Given the description of an element on the screen output the (x, y) to click on. 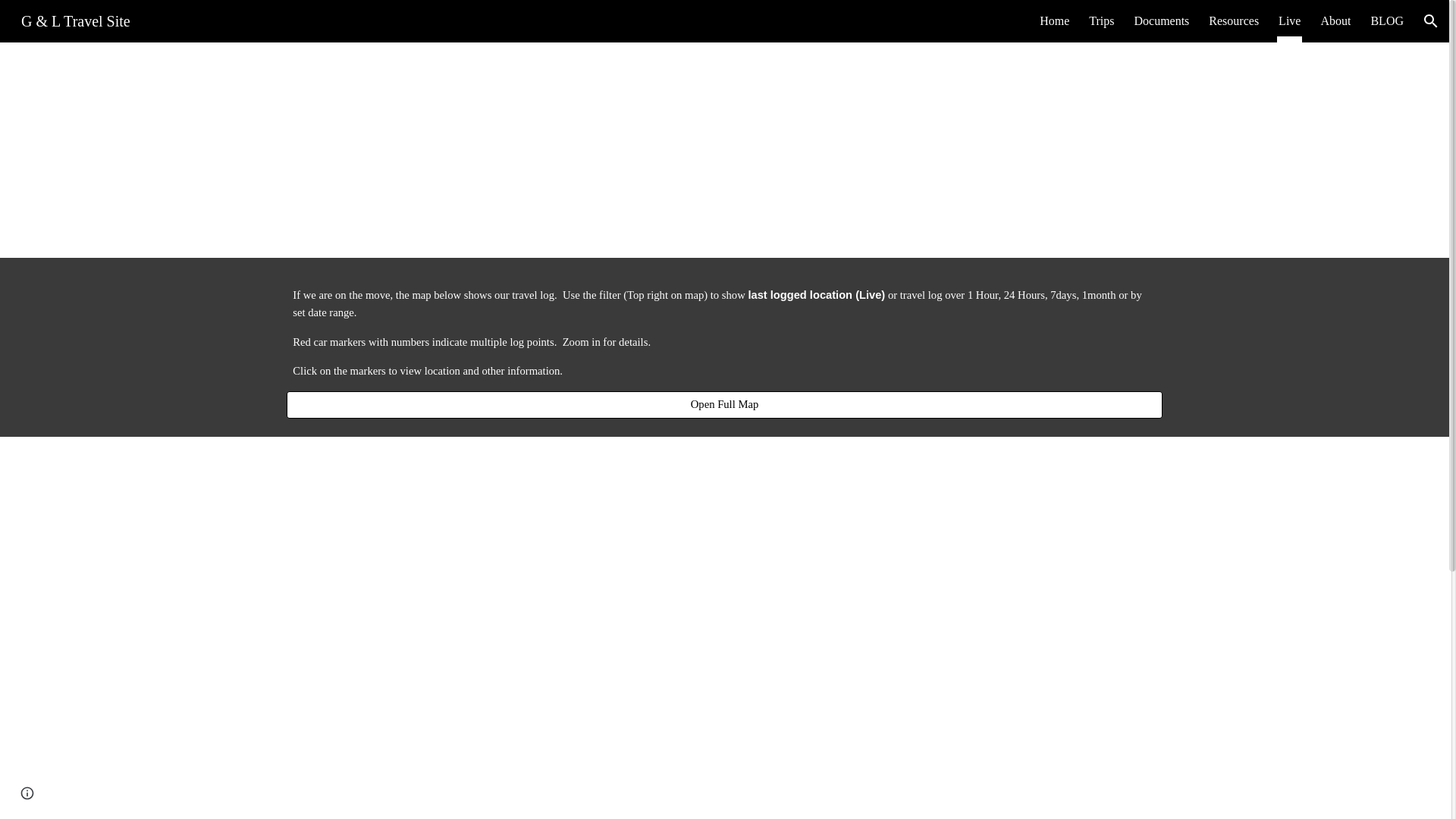
Live Element type: text (1289, 20)
About Element type: text (1335, 20)
Trips Element type: text (1100, 20)
Documents Element type: text (1161, 20)
Home Element type: text (1054, 20)
G & L Travel Site Element type: text (75, 19)
Resources Element type: text (1233, 20)
BLOG Element type: text (1386, 20)
Open Full Map Element type: text (724, 404)
